Given the description of an element on the screen output the (x, y) to click on. 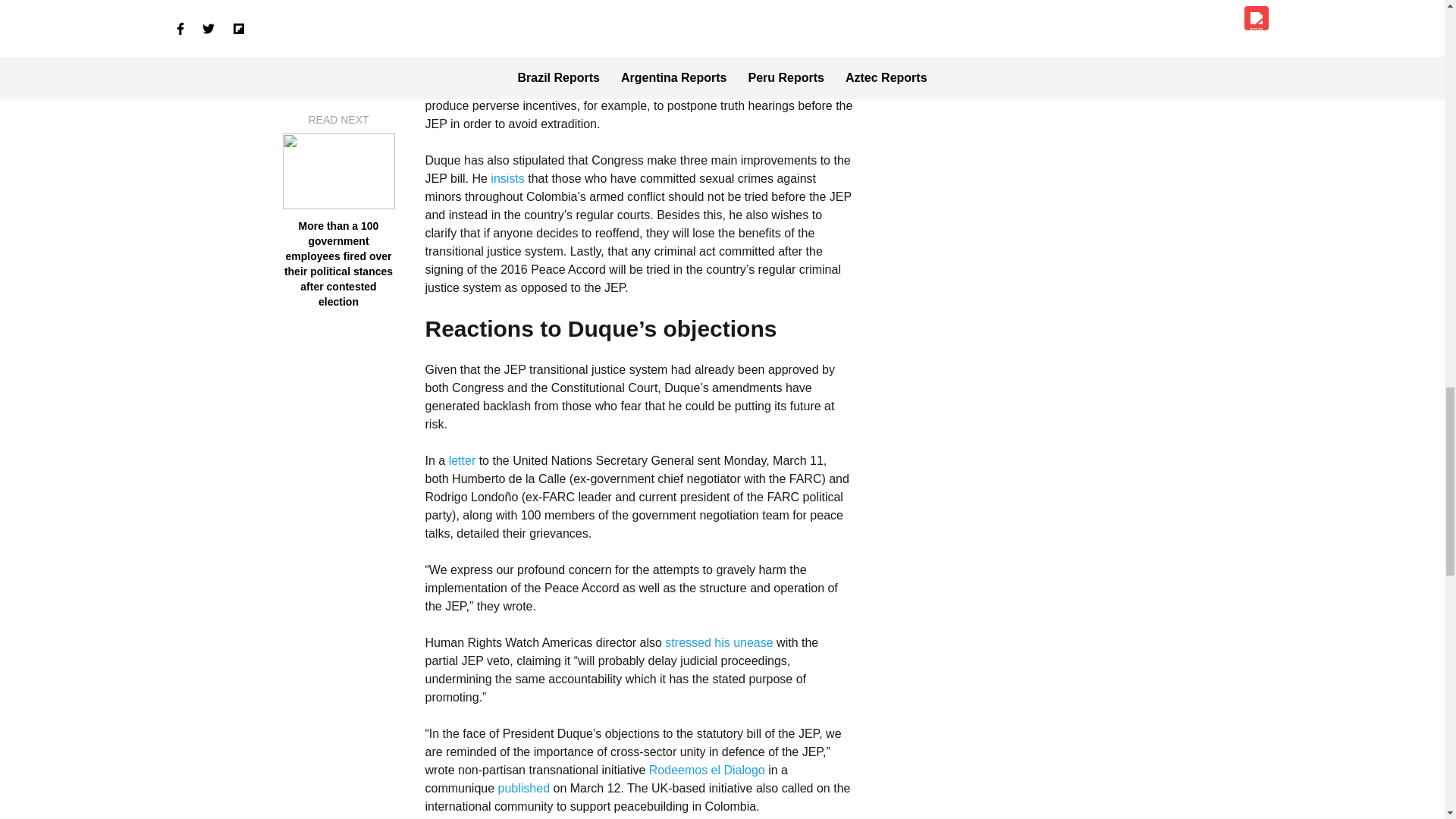
insists (508, 178)
Duque says, (748, 87)
Rodeemos el Dialogo (707, 769)
letter (463, 460)
stressed his unease (719, 642)
